Given the description of an element on the screen output the (x, y) to click on. 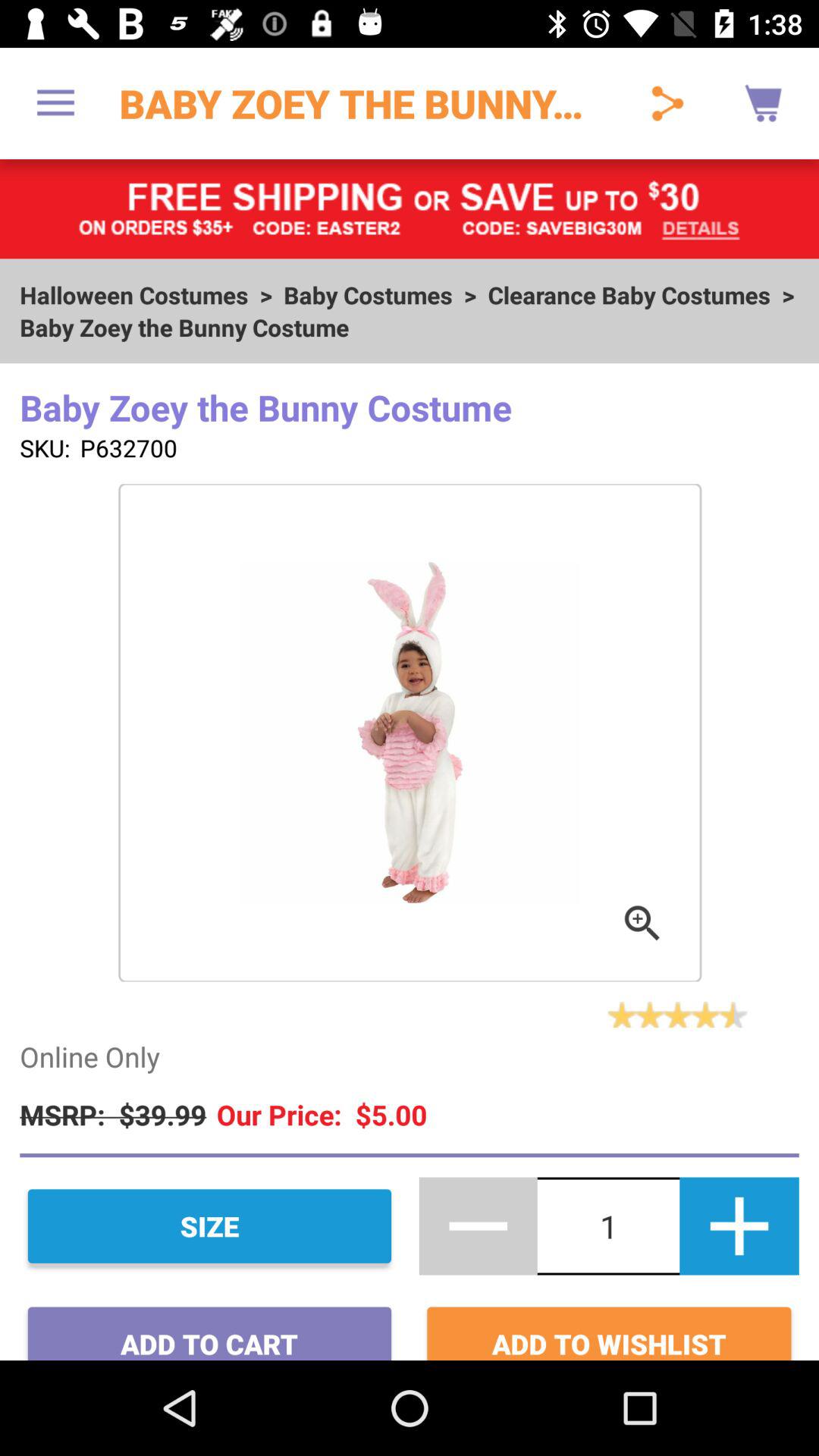
select the text between  and  (608, 1225)
click on size above add to cart (209, 1226)
click on the button which is in the image (642, 924)
click the sign left to 1 (478, 1226)
click on add to cart (209, 1327)
